Given the description of an element on the screen output the (x, y) to click on. 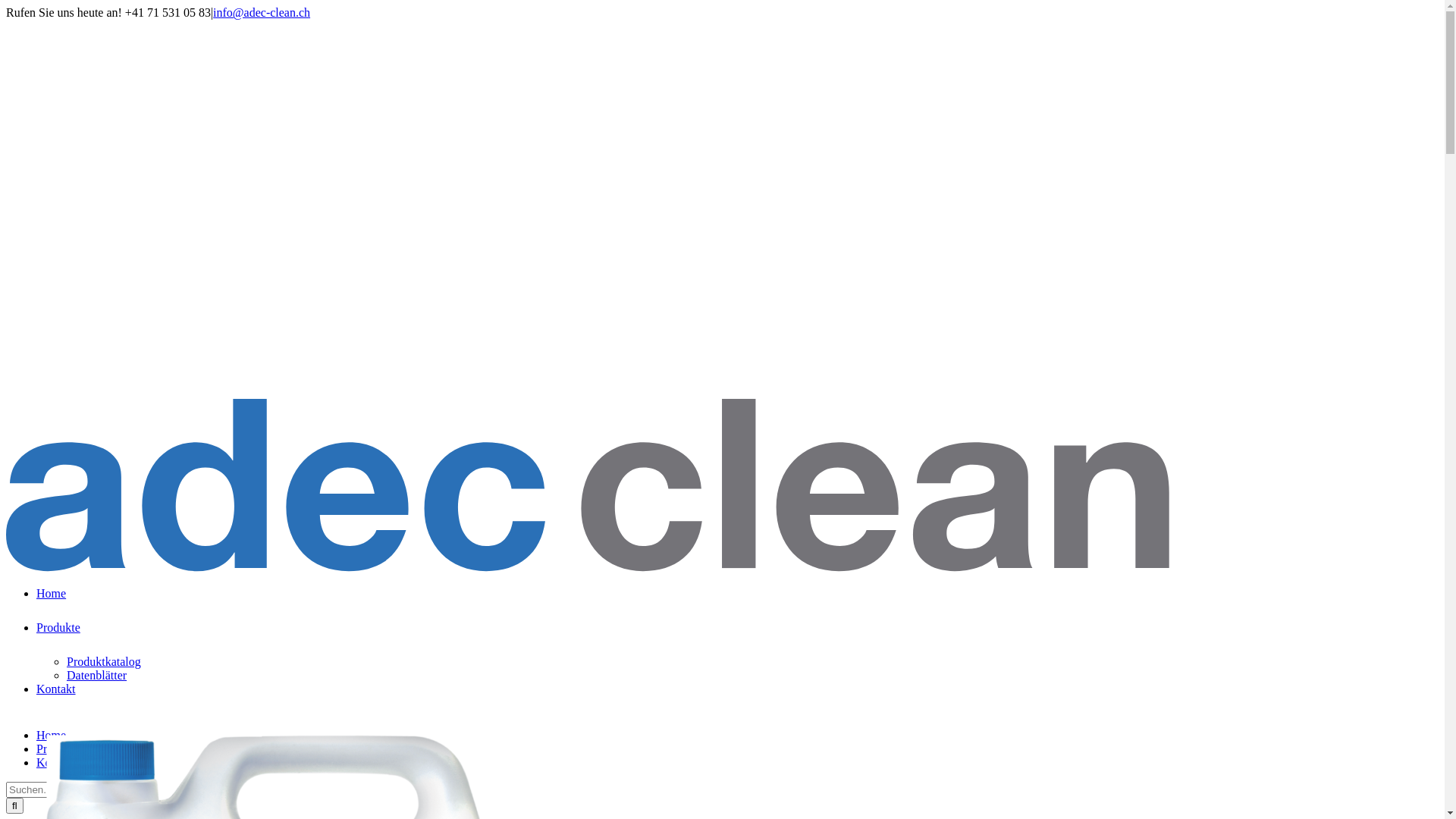
Produktkatalog Element type: text (103, 661)
Zum Inhalt springen Element type: text (5, 5)
Produkte Element type: text (58, 748)
Kontakt Element type: text (55, 699)
Home Element type: text (50, 734)
info@adec-clean.ch Element type: text (261, 12)
Produkte Element type: text (58, 638)
Home Element type: text (50, 603)
Kontakt Element type: text (55, 762)
